Given the description of an element on the screen output the (x, y) to click on. 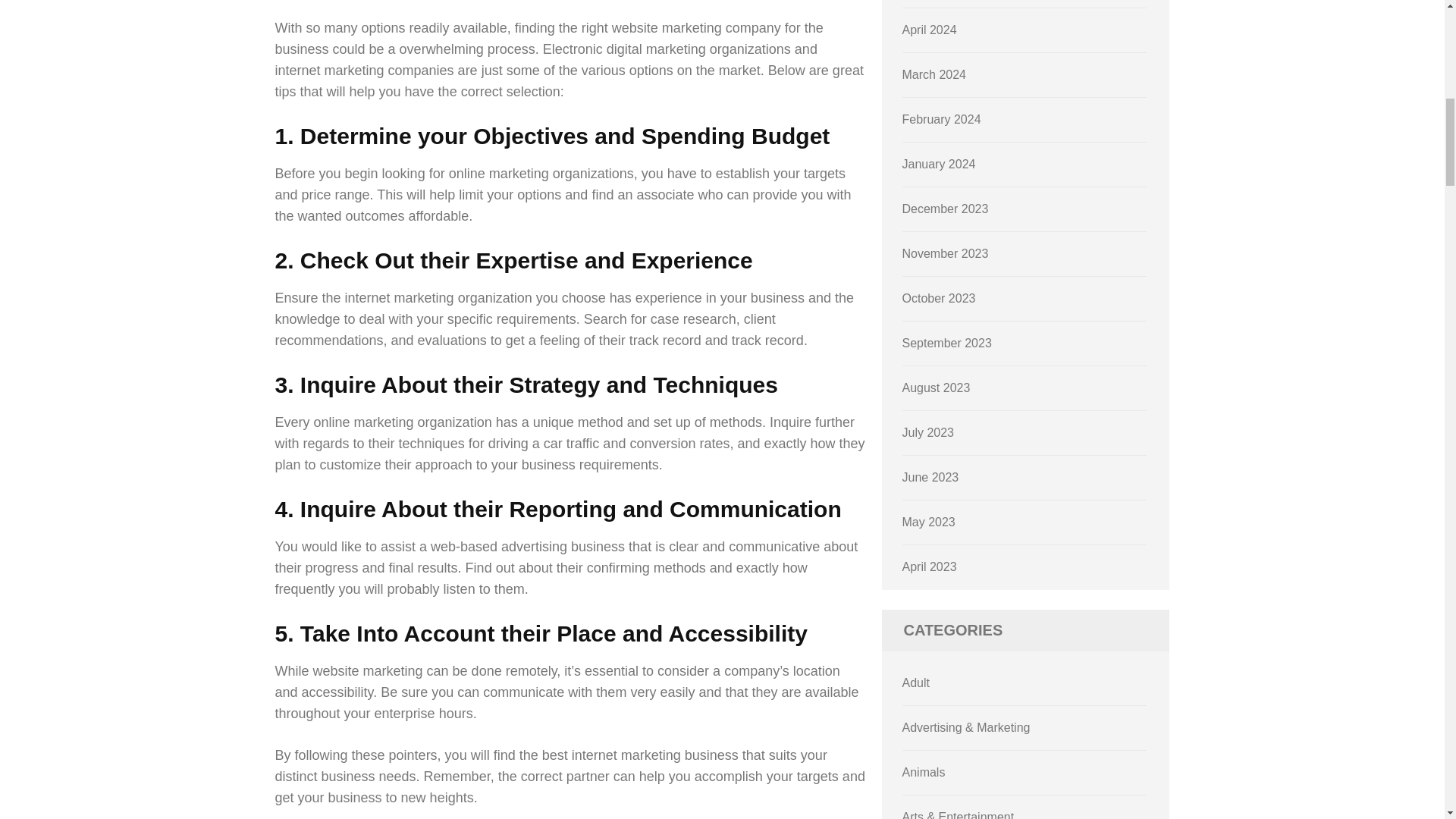
March 2024 (934, 74)
May 2023 (928, 521)
January 2024 (938, 164)
December 2023 (945, 208)
September 2023 (946, 342)
February 2024 (941, 119)
November 2023 (945, 253)
August 2023 (936, 387)
July 2023 (928, 431)
April 2024 (929, 29)
June 2023 (930, 477)
April 2023 (929, 566)
October 2023 (938, 297)
